Given the description of an element on the screen output the (x, y) to click on. 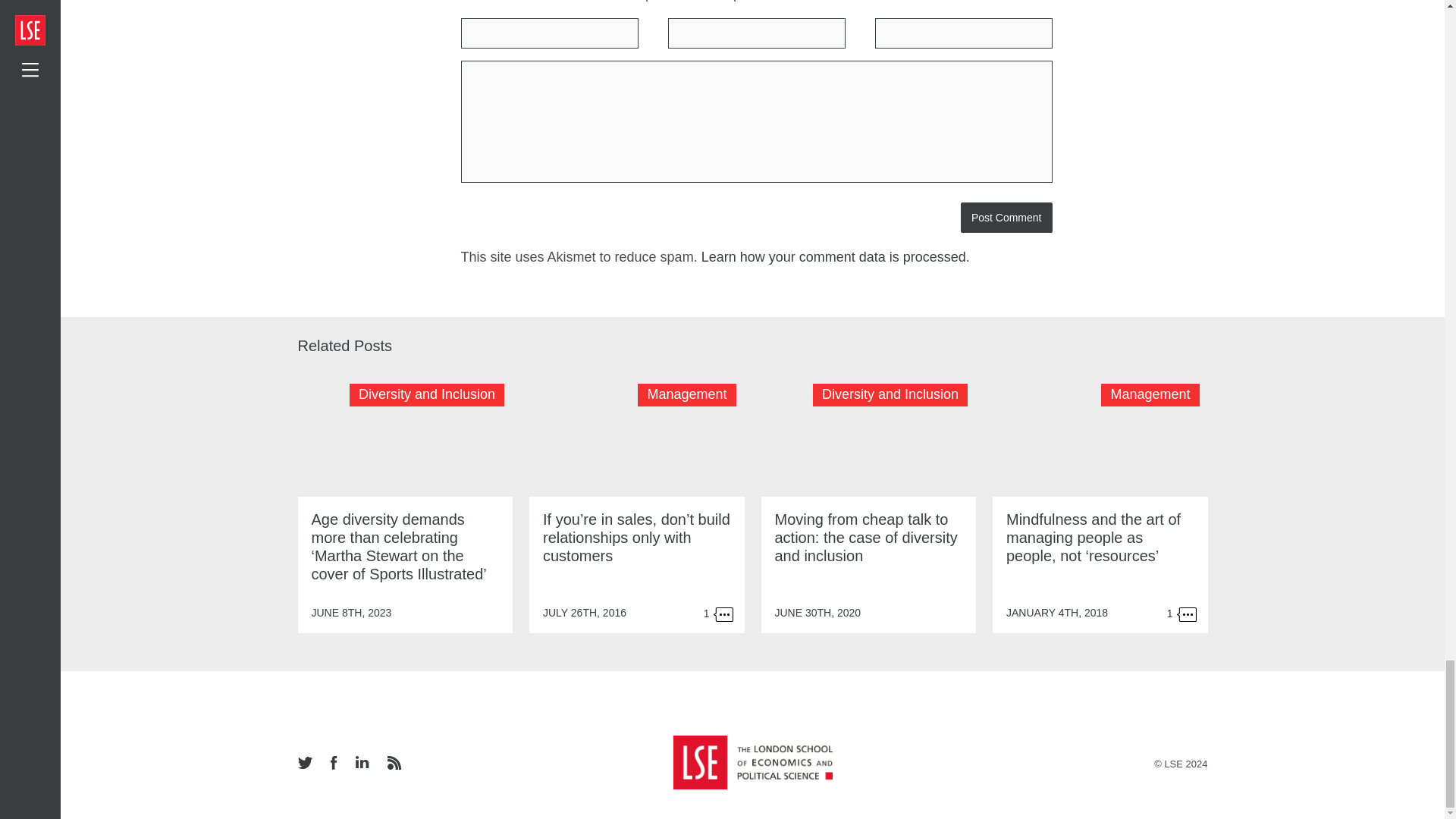
Post Comment (1006, 217)
rss (393, 763)
linkedin (361, 763)
Learn how your comment data is processed (833, 256)
Post Comment (1006, 217)
